Given the description of an element on the screen output the (x, y) to click on. 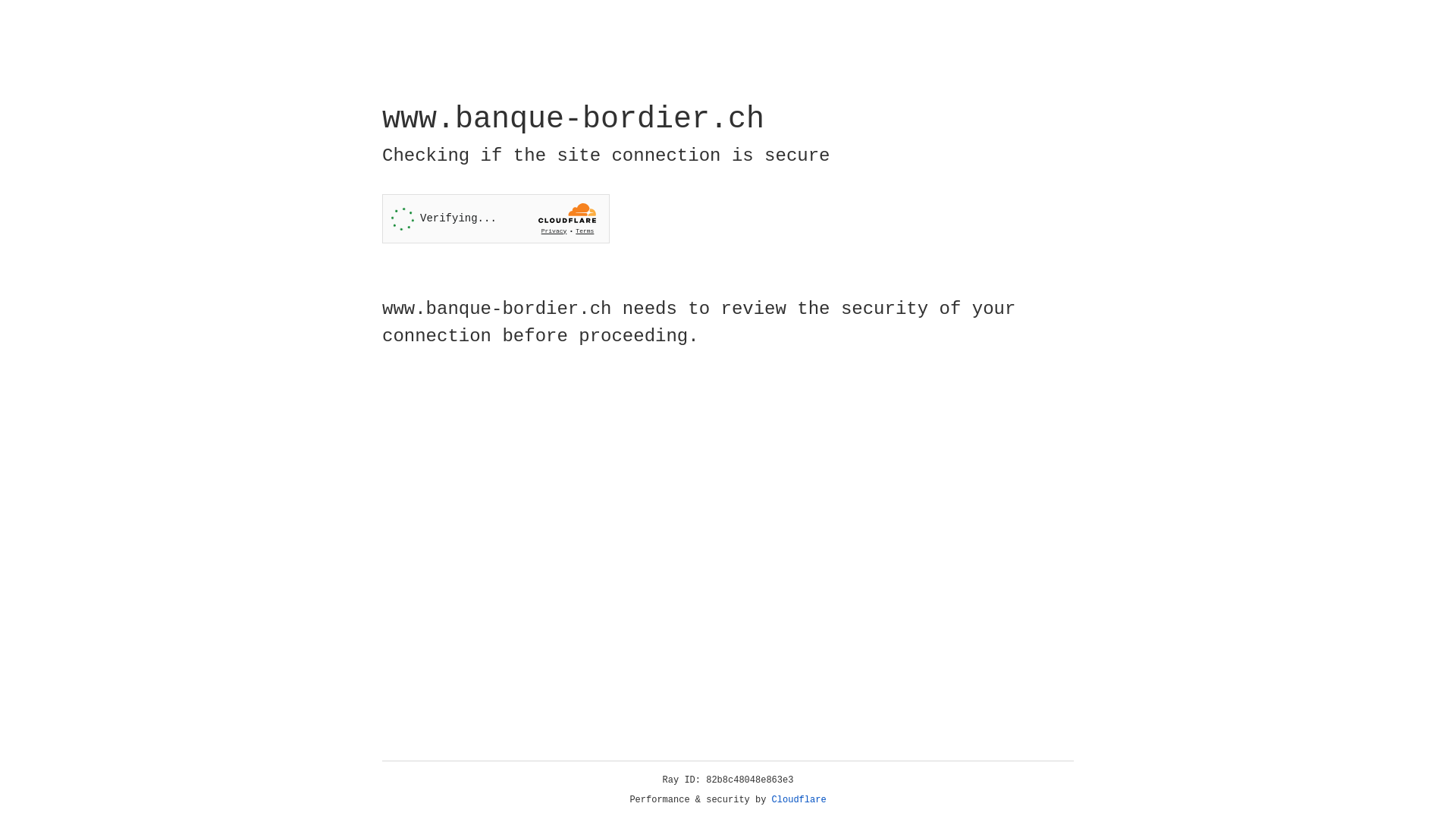
Cloudflare Element type: text (798, 799)
Widget containing a Cloudflare security challenge Element type: hover (495, 218)
